Given the description of an element on the screen output the (x, y) to click on. 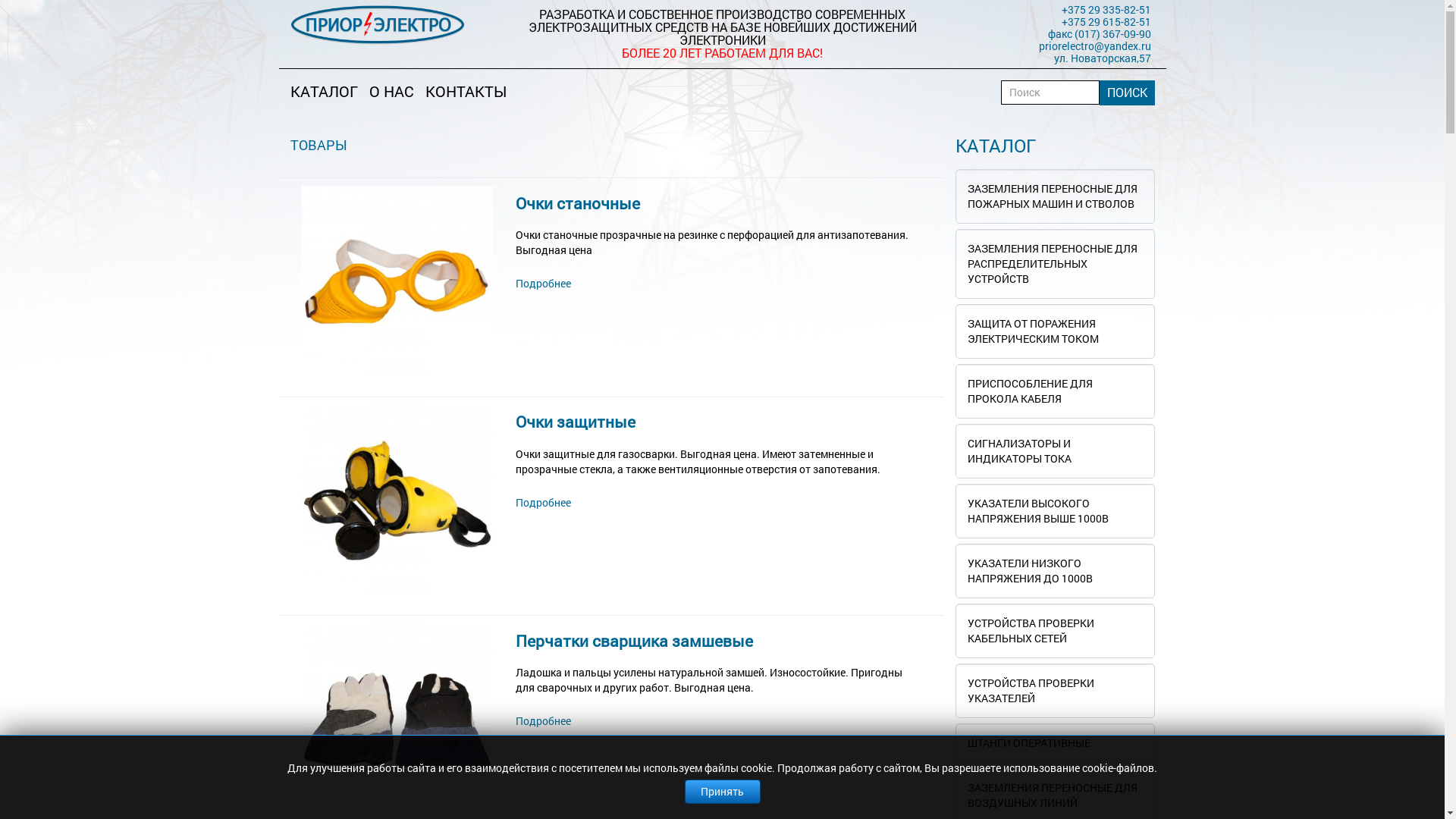
priorelectro@yandex.ru Element type: text (1094, 45)
